Given the description of an element on the screen output the (x, y) to click on. 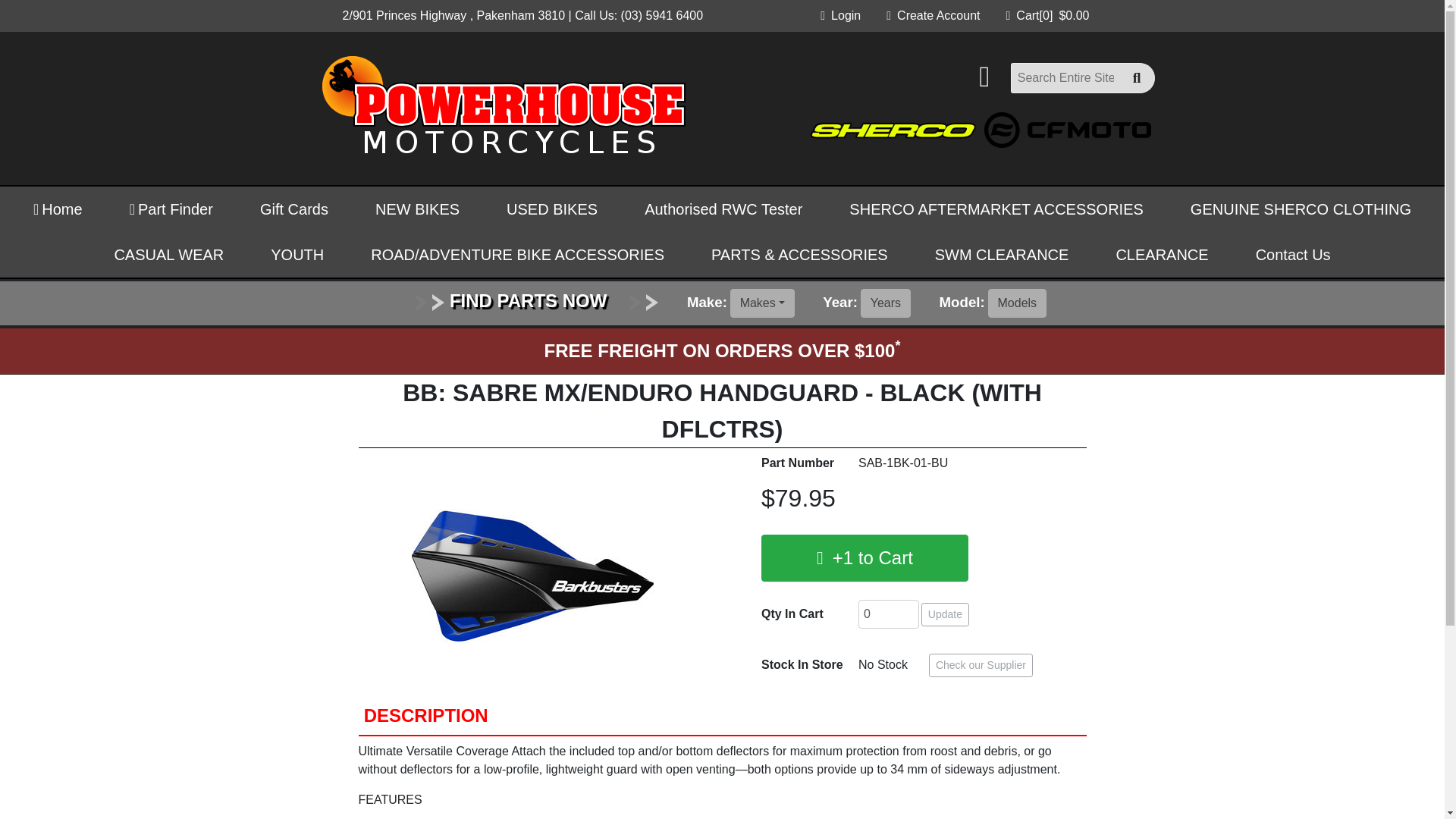
GENUINE SHERCO CLOTHING (1047, 15)
Makes (1300, 208)
Create Account (762, 303)
Part Finder (933, 15)
SHERCO AFTERMARKET ACCESSORIES (170, 208)
Update (996, 208)
CLEARANCE (945, 614)
SWM CLEARANCE (1161, 254)
Contact Us (1002, 254)
